Given the description of an element on the screen output the (x, y) to click on. 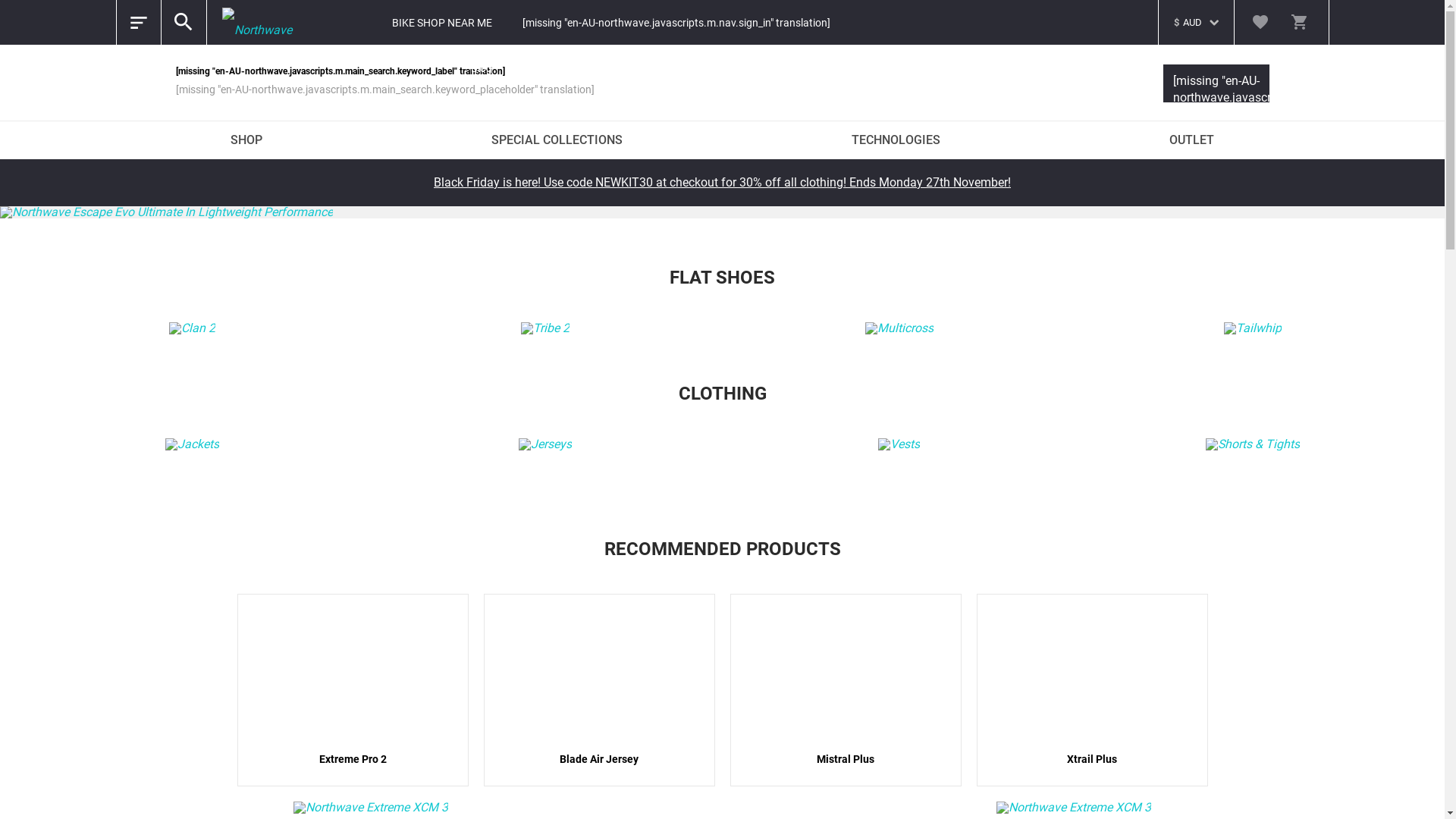
Blade Air Jersey Element type: text (599, 689)
Extreme Pro 2 Element type: text (351, 689)
OUTLET Element type: text (1191, 140)
Blog Element type: text (481, 68)
$AUD Element type: text (1196, 15)
Xtrail Plus Element type: text (1092, 689)
Northwave Australia Home Page Element type: hover (263, 22)
Mistral Plus Element type: text (844, 689)
BIKE SHOP NEAR ME Element type: text (442, 22)
